Given the description of an element on the screen output the (x, y) to click on. 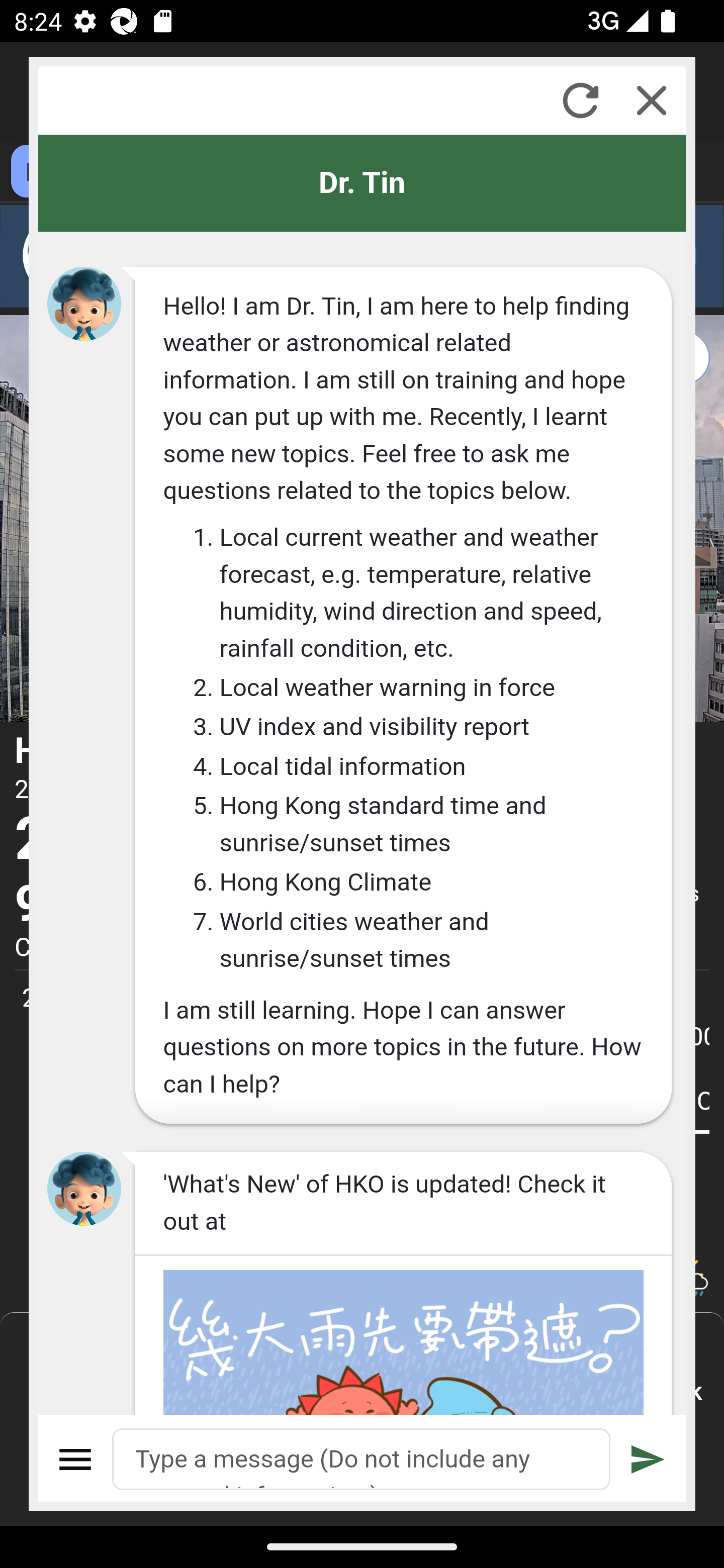
Refresh (580, 100)
Close (651, 100)
Menu (75, 1458)
Submit (648, 1458)
